Given the description of an element on the screen output the (x, y) to click on. 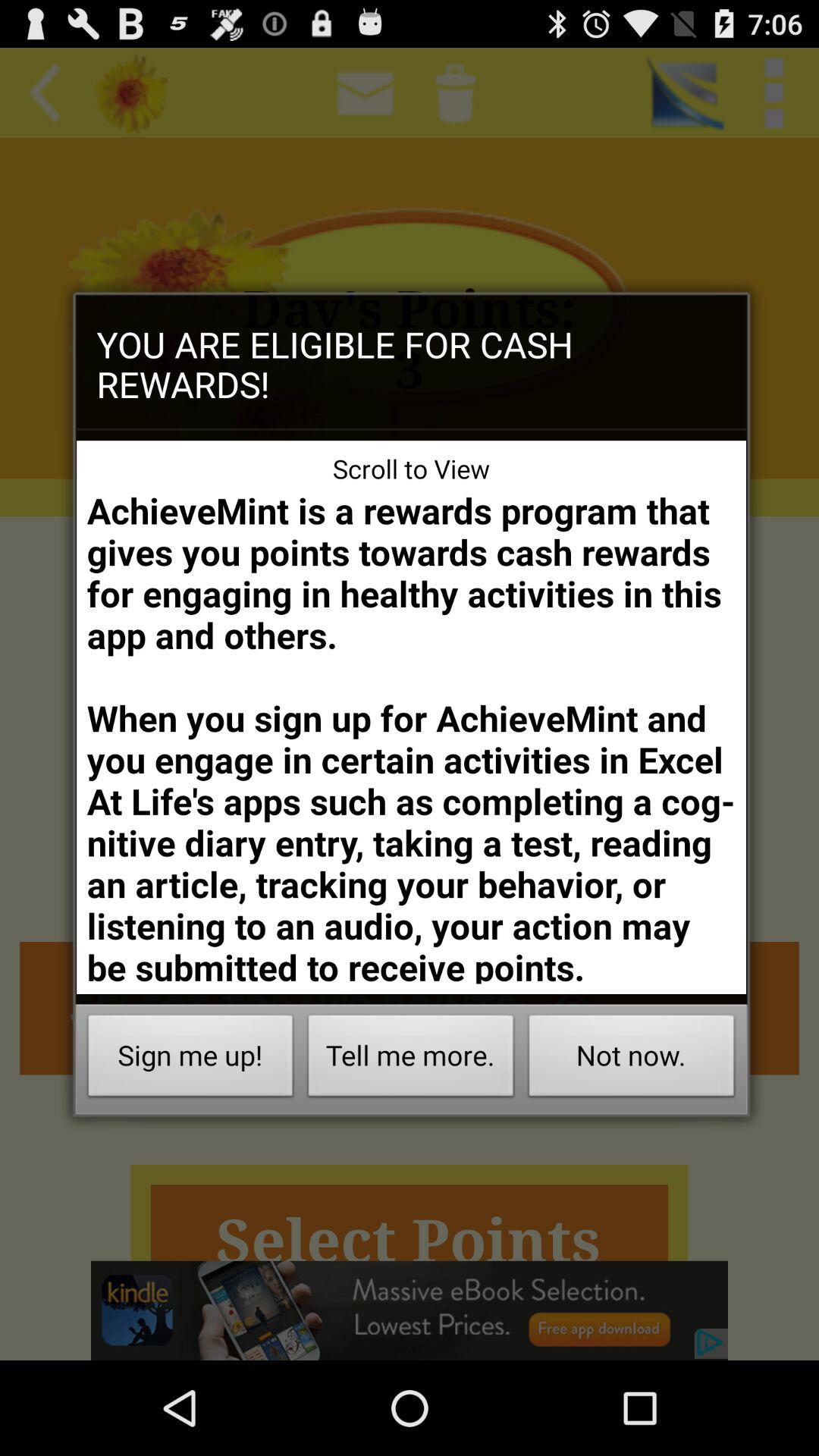
turn on the tell me more. item (410, 1059)
